Given the description of an element on the screen output the (x, y) to click on. 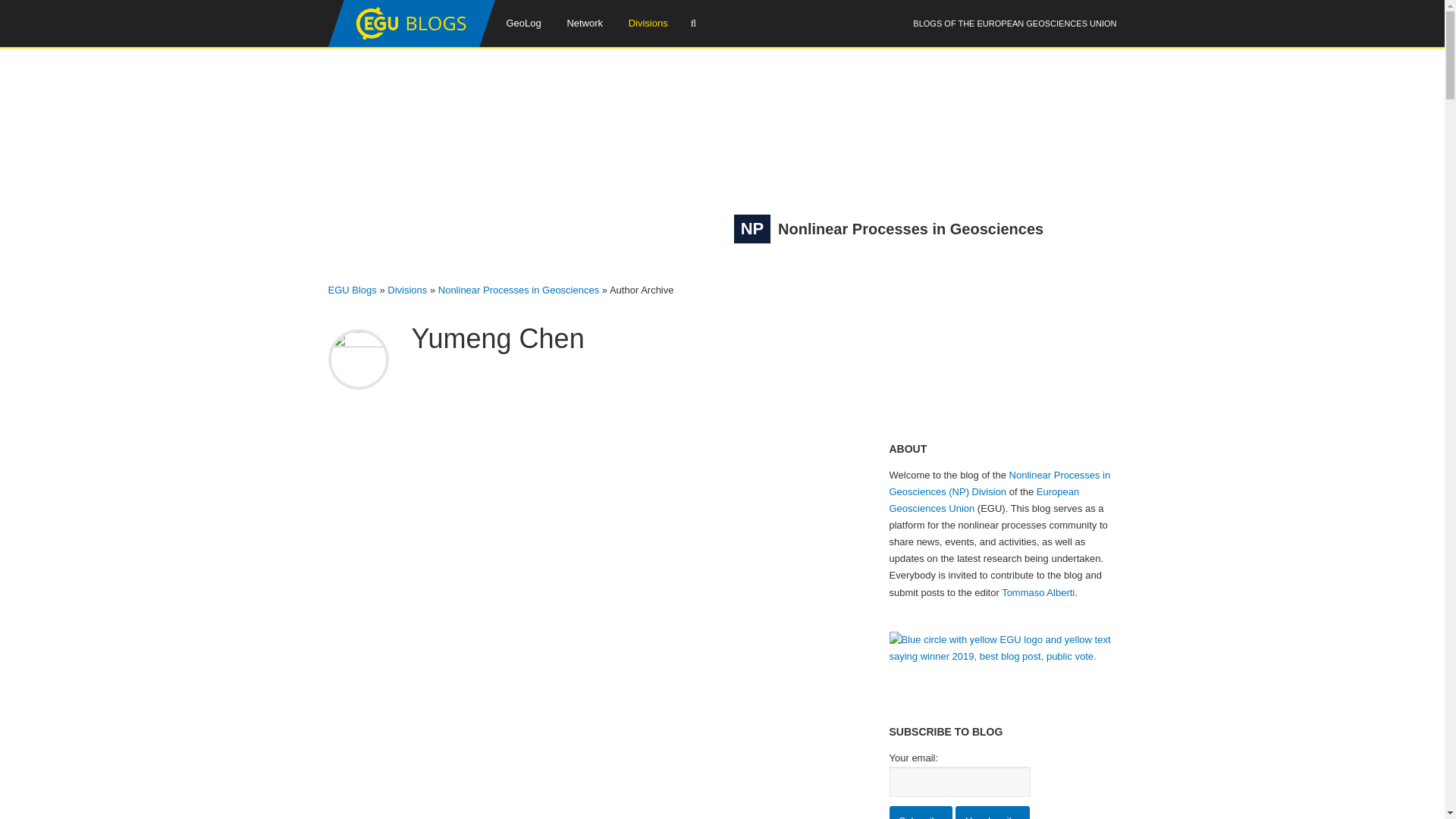
Divisions (648, 22)
Unsubscribe (992, 812)
EGU Blogs (411, 43)
EUROPEAN GEOSCIENCES UNION (1046, 22)
Network (584, 22)
GeoLog (523, 22)
Subscribe (920, 812)
